Given the description of an element on the screen output the (x, y) to click on. 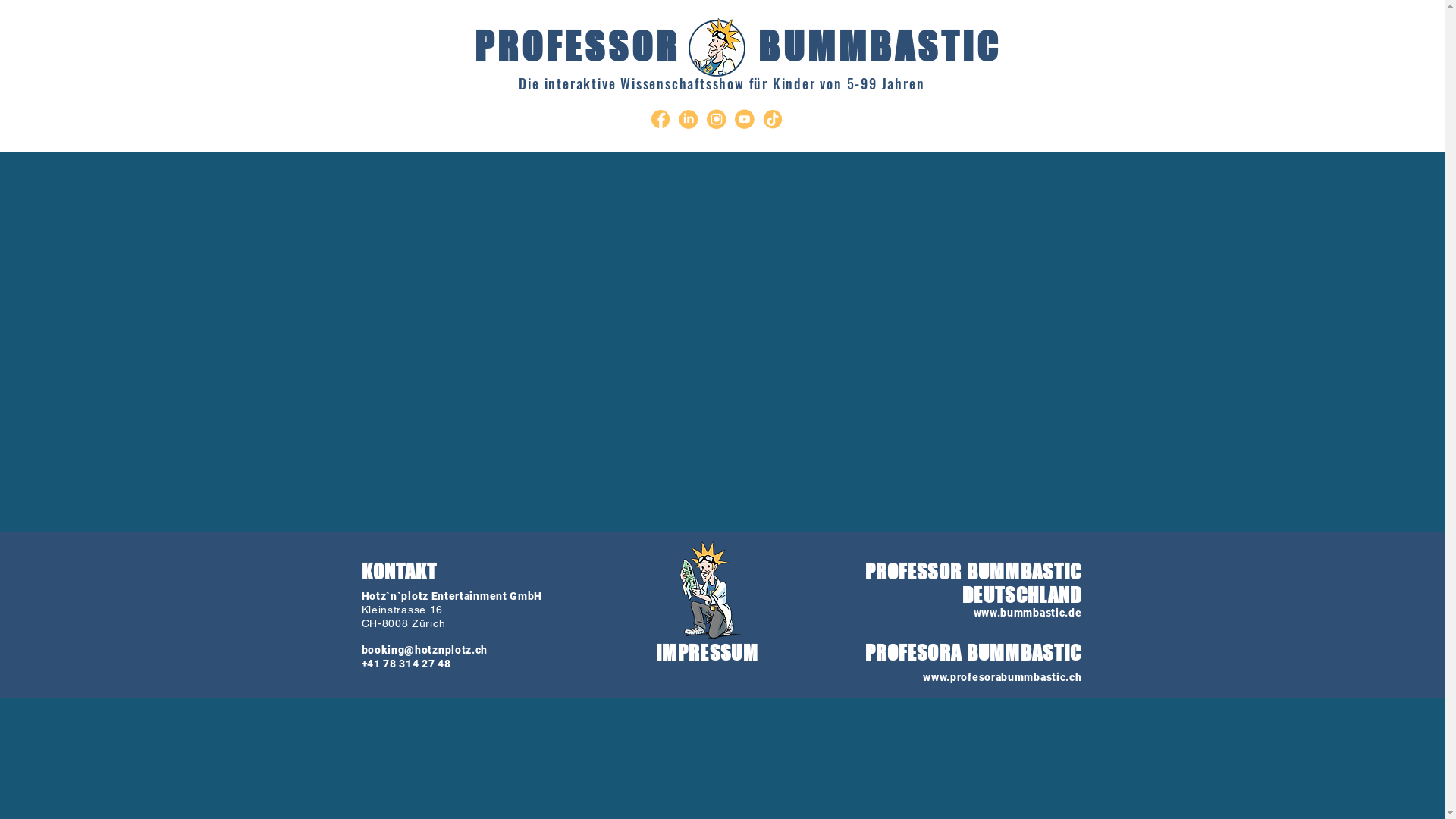
PROFESSOR Element type: text (577, 46)
IMPRESSUM Element type: text (706, 652)
www.bummbastic.de Element type: text (1027, 612)
PROFESORA BUMMBASTIC Element type: text (972, 652)
www.profesorabummbastic.ch Element type: text (1001, 677)
PROFESSOR BUMMBASTIC
DEUTSCHLAND Element type: text (972, 582)
booking@hotznplotz.ch Element type: text (423, 649)
BUMMBASTIC Element type: text (879, 46)
